Given the description of an element on the screen output the (x, y) to click on. 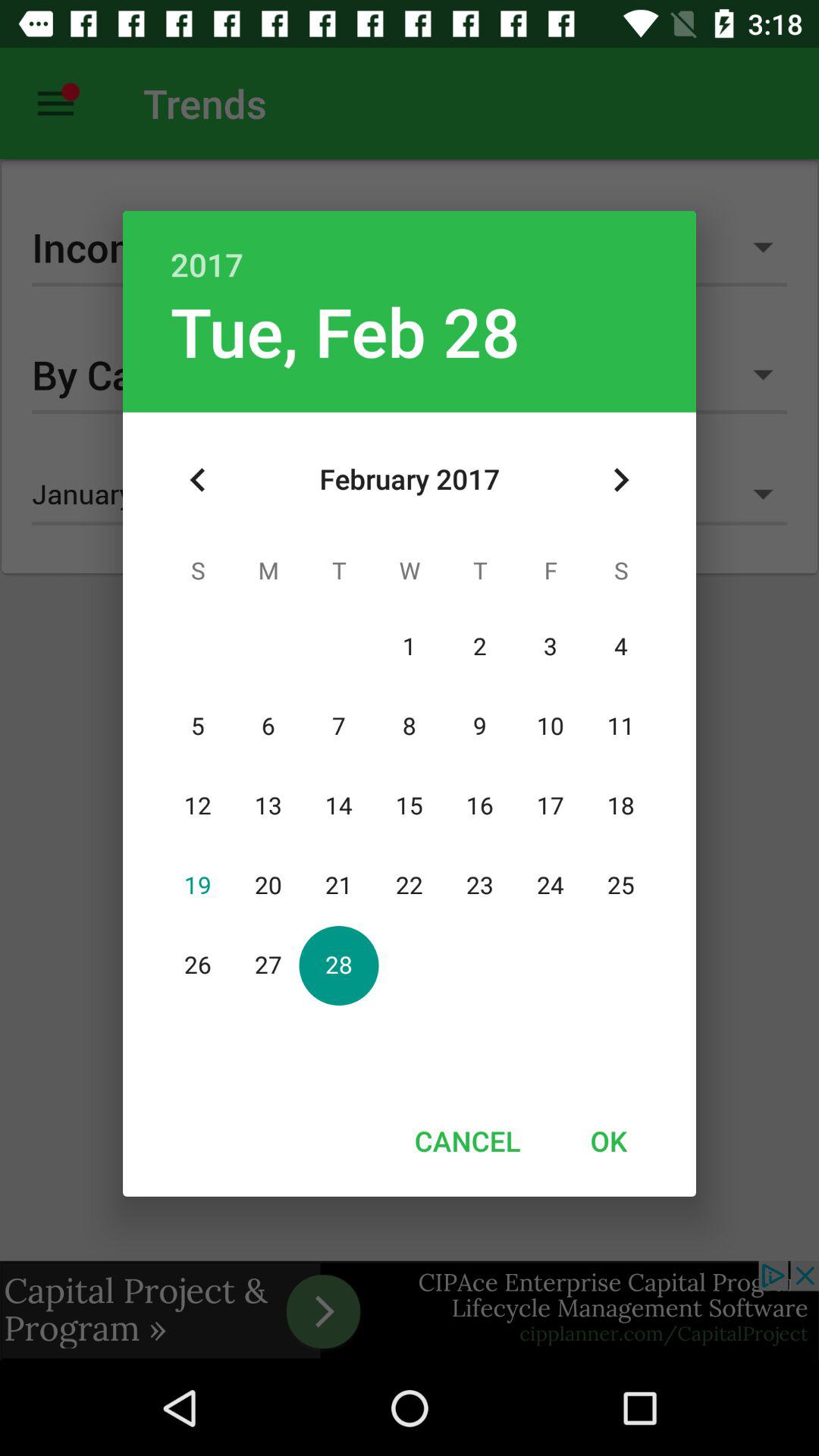
turn off icon below the 2017 (620, 479)
